Given the description of an element on the screen output the (x, y) to click on. 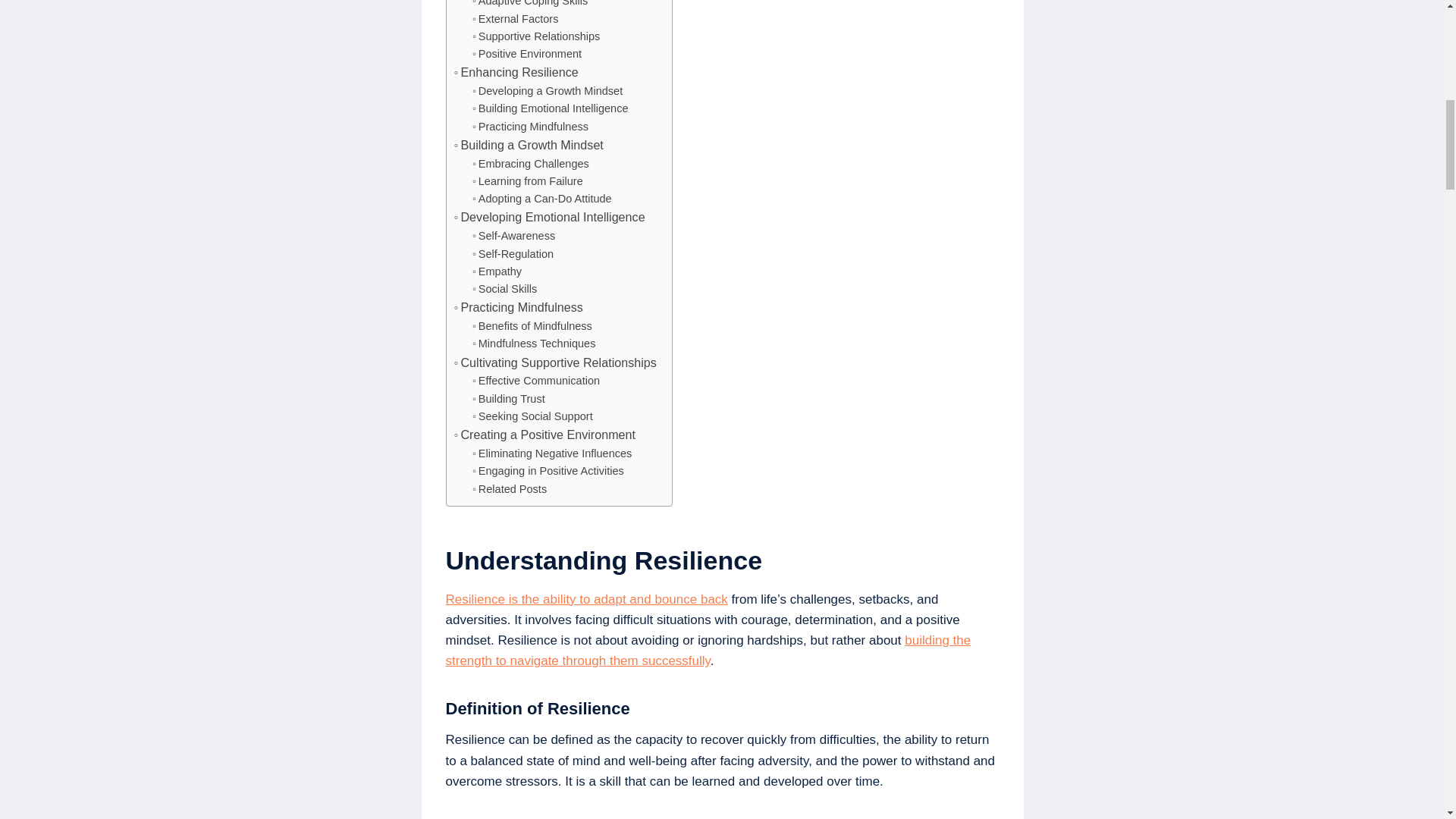
Developing a Growth Mindset (547, 90)
Supportive Relationships (535, 36)
Self-Regulation (512, 253)
Cultivating Supportive Relationships (554, 362)
Building Emotional Intelligence (549, 108)
Empathy (496, 271)
Developing a Growth Mindset (547, 90)
Learning from Failure (527, 181)
Self-Awareness (512, 235)
Developing Emotional Intelligence (548, 217)
